Given the description of an element on the screen output the (x, y) to click on. 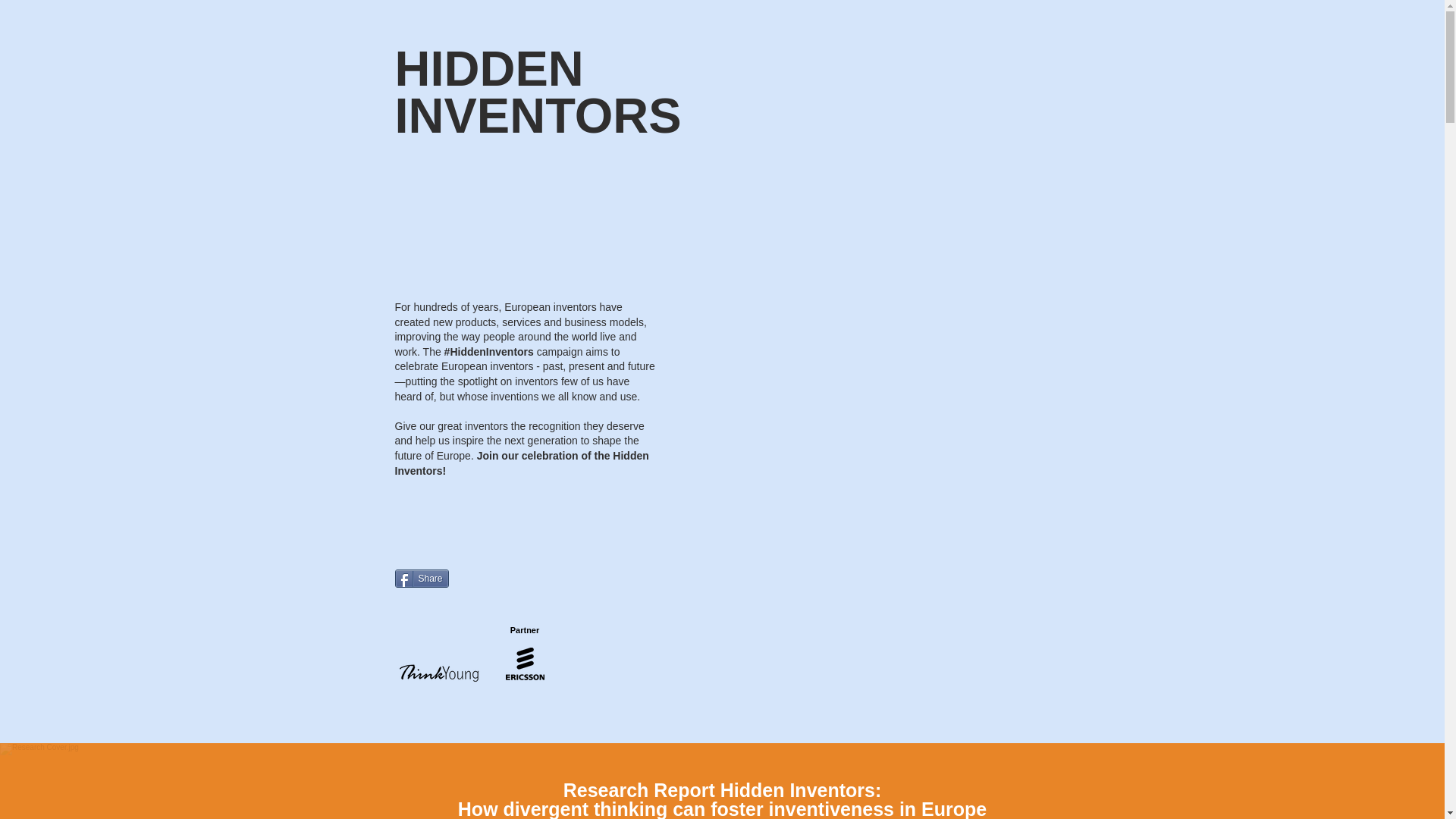
Twitter Tweet (481, 578)
Share (421, 578)
Share (421, 578)
